Given the description of an element on the screen output the (x, y) to click on. 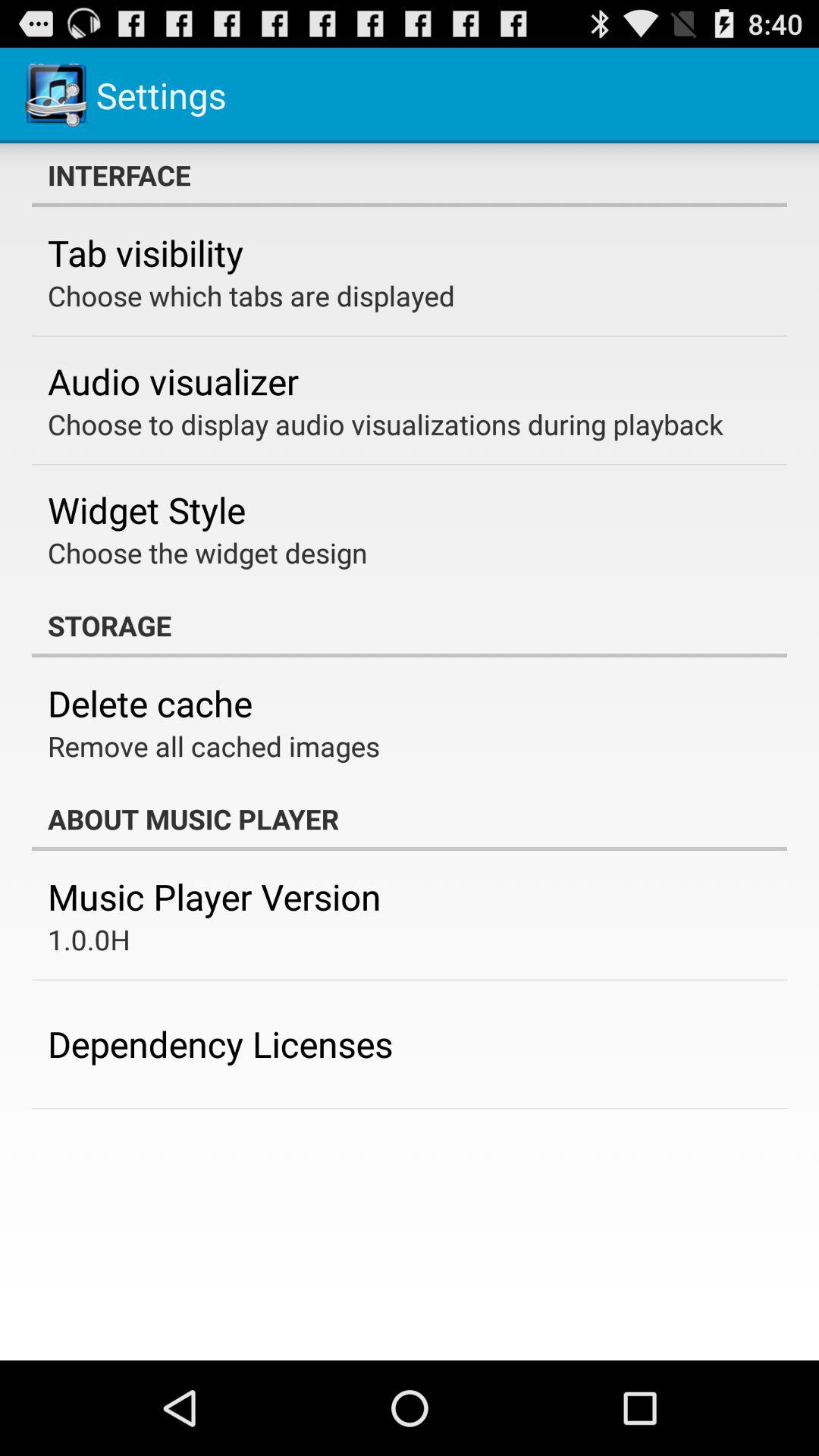
turn on item below choose to display item (146, 509)
